Given the description of an element on the screen output the (x, y) to click on. 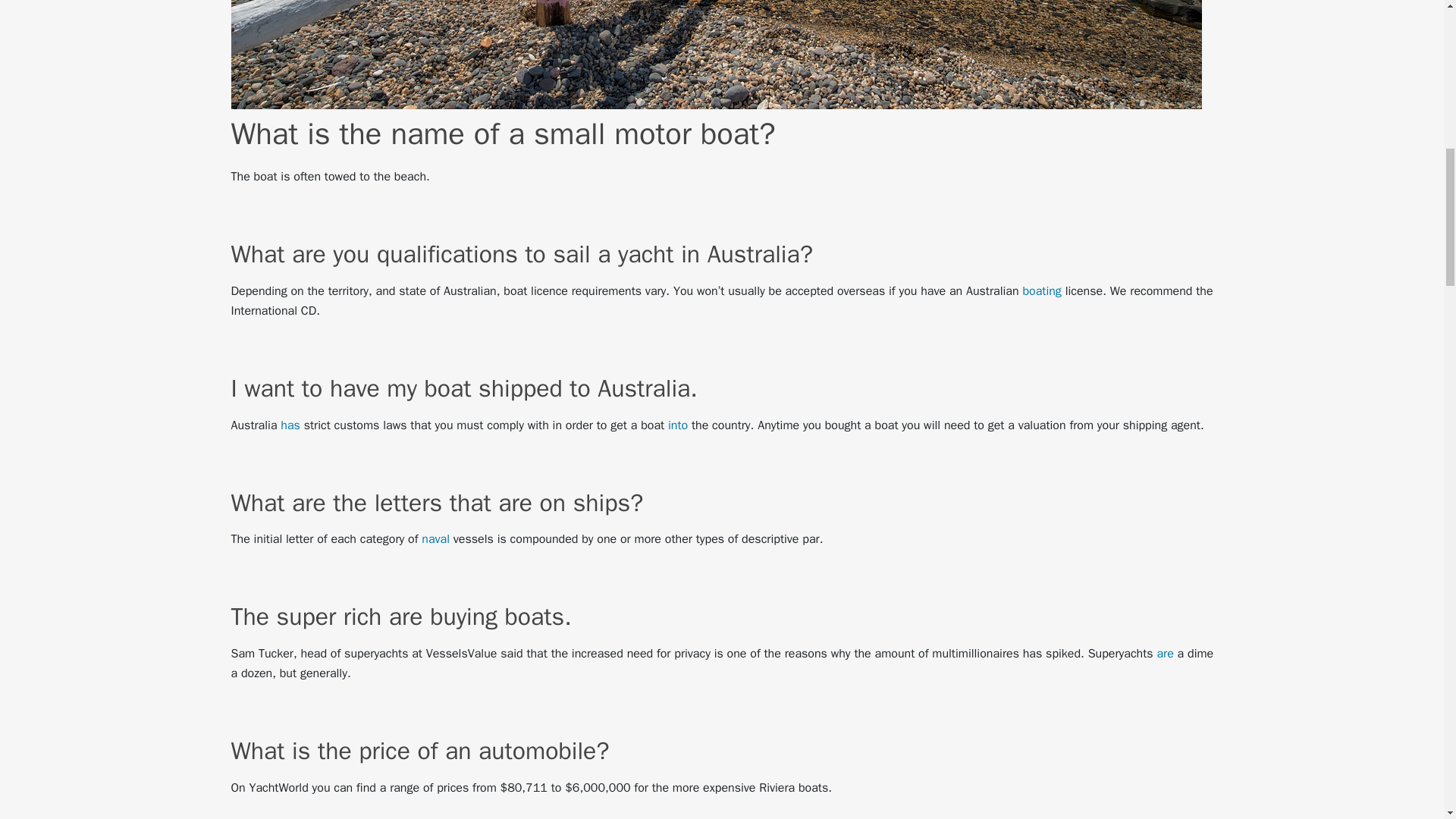
naval (435, 539)
boating (1041, 290)
into (677, 425)
has (290, 425)
are (1164, 653)
